Given the description of an element on the screen output the (x, y) to click on. 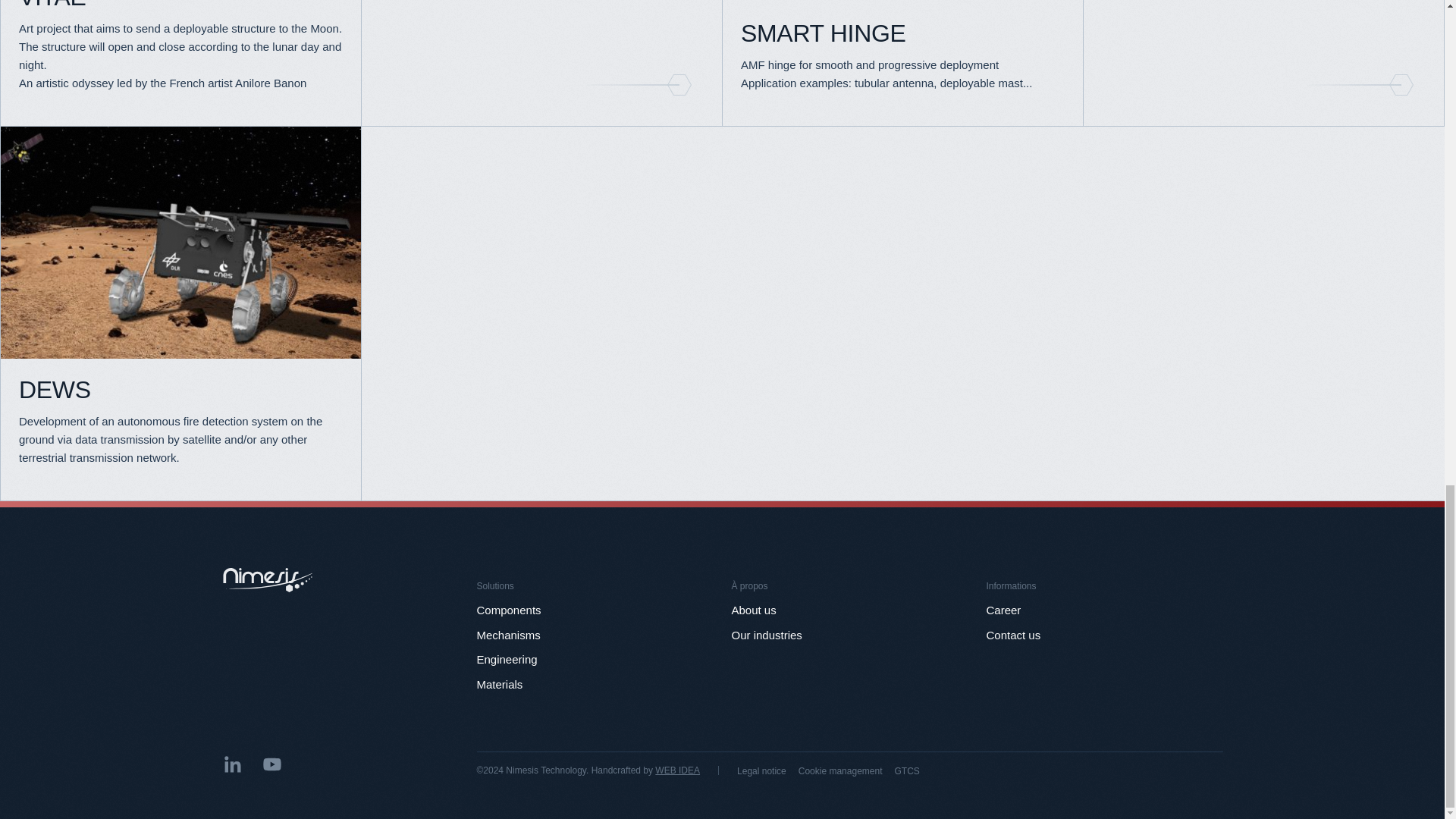
Engineering (506, 658)
Mechanisms (508, 634)
Components (508, 609)
